Given the description of an element on the screen output the (x, y) to click on. 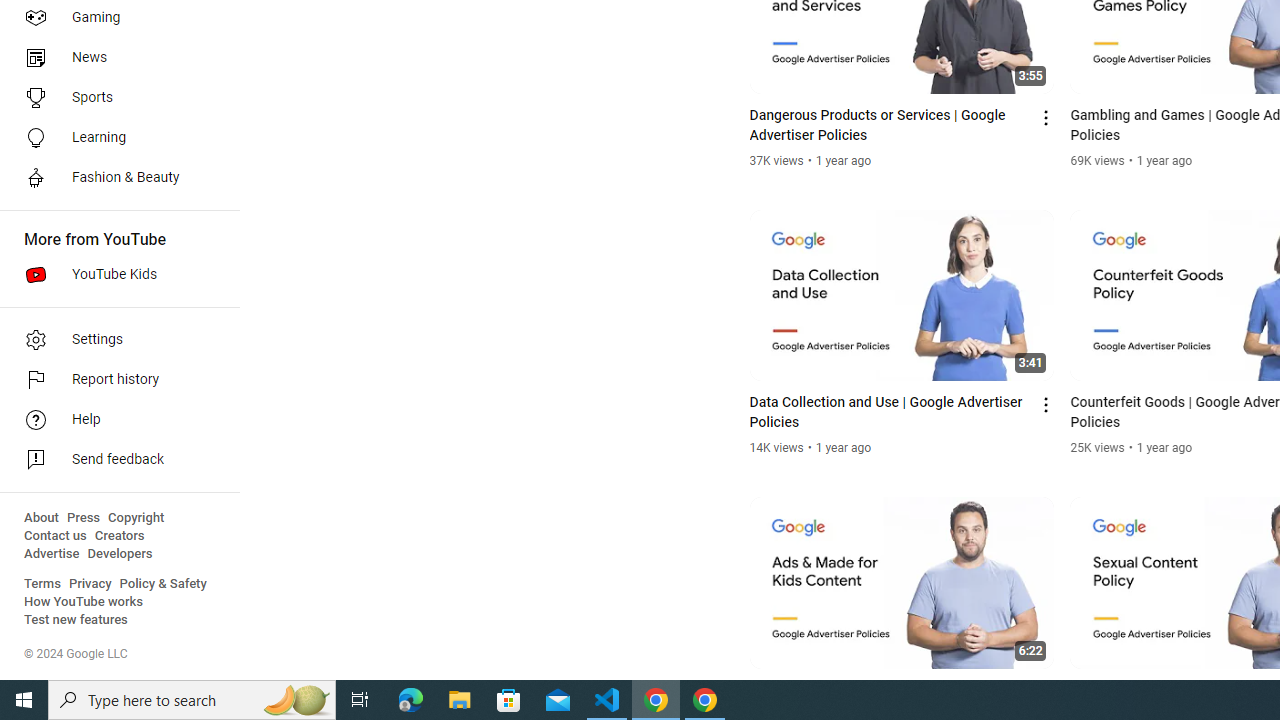
About (41, 518)
Test new features (76, 620)
Send feedback (113, 459)
Action menu (1046, 691)
Help (113, 419)
Copyright (136, 518)
Terms (42, 584)
Learning (113, 137)
